Given the description of an element on the screen output the (x, y) to click on. 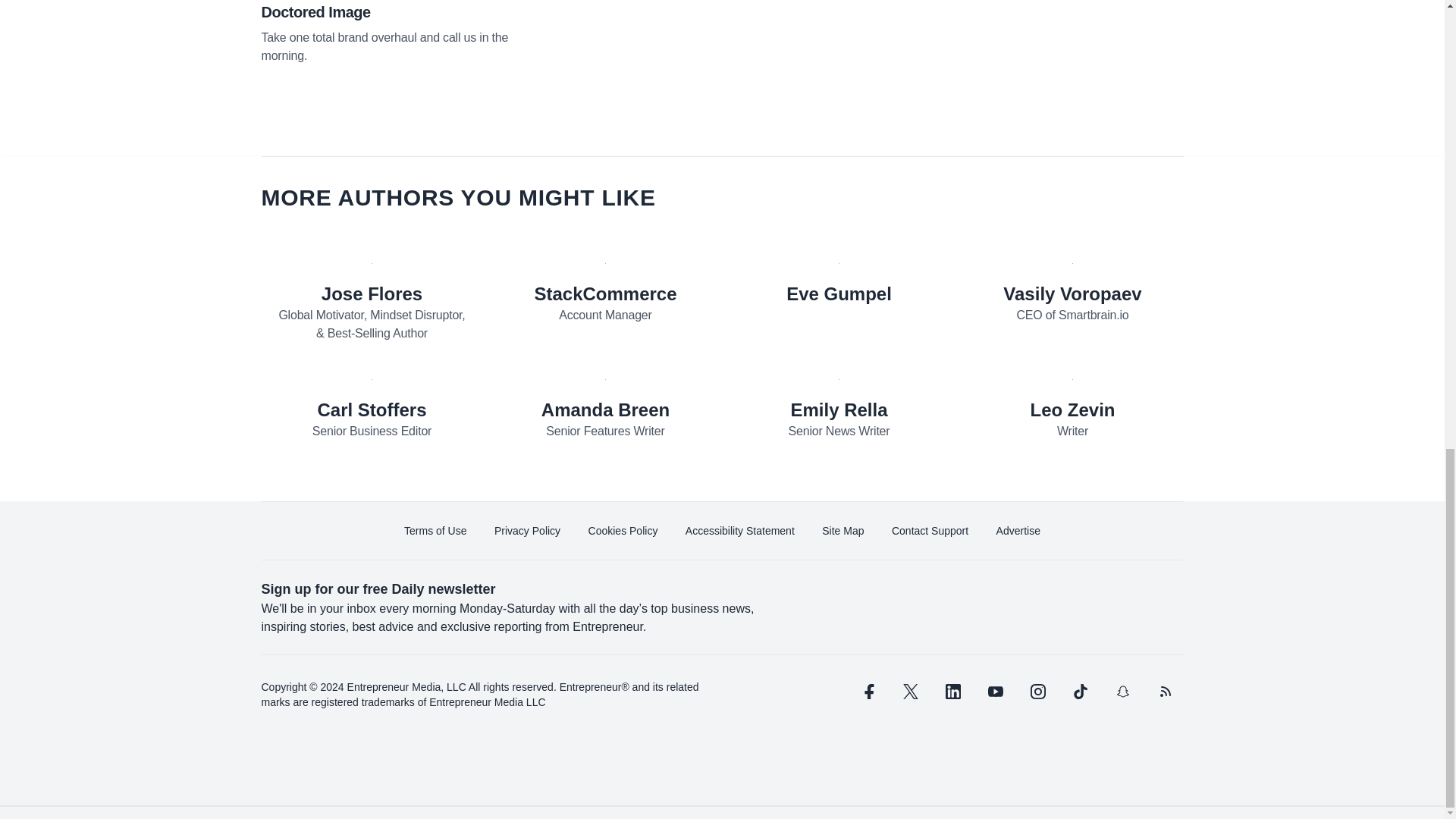
tiktok (1079, 691)
linkedin (952, 691)
rss (1164, 691)
facebook (866, 691)
youtube (994, 691)
instagram (1037, 691)
snapchat (1121, 691)
twitter (909, 691)
